Given the description of an element on the screen output the (x, y) to click on. 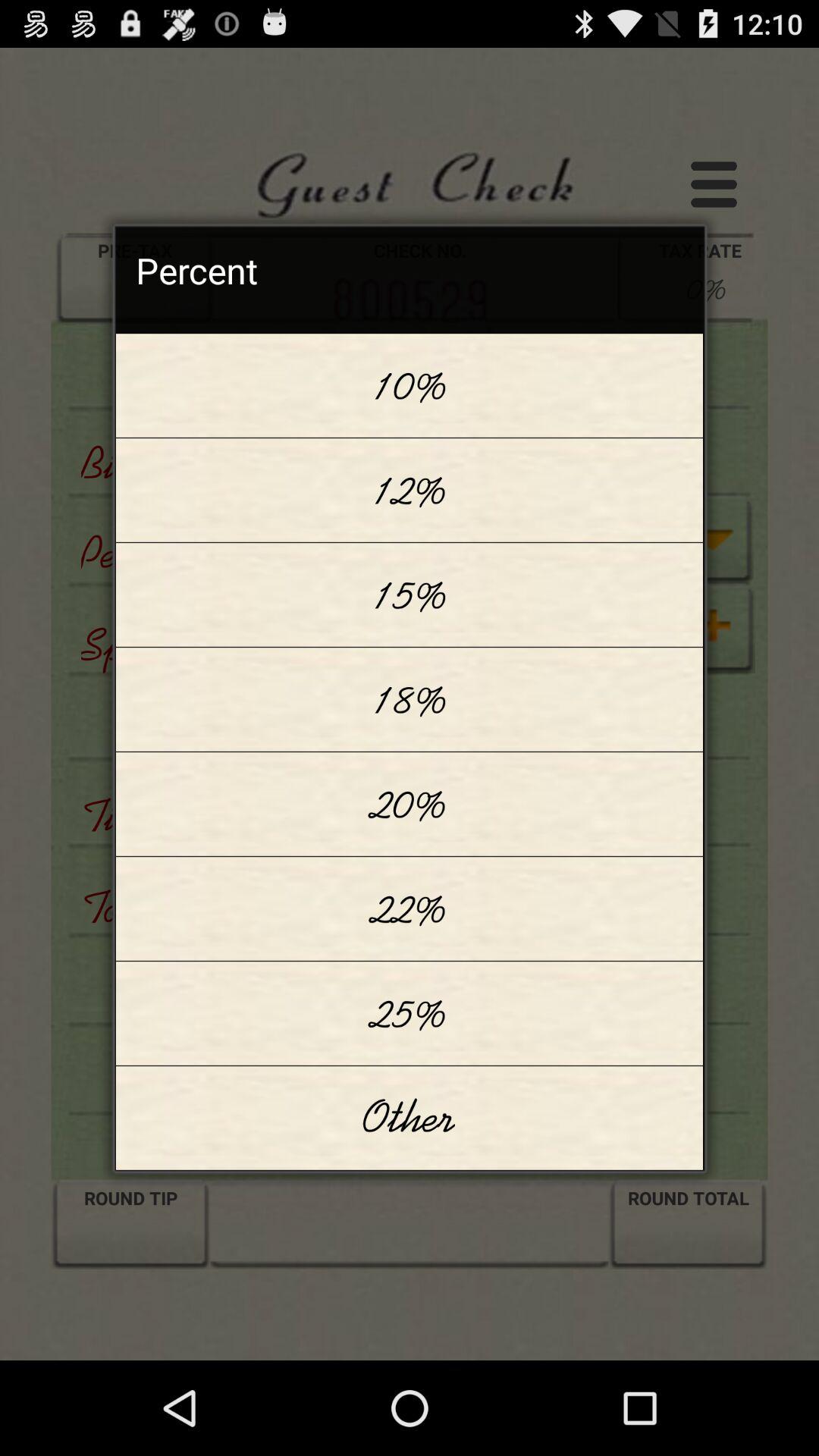
swipe until 25% item (409, 1012)
